Given the description of an element on the screen output the (x, y) to click on. 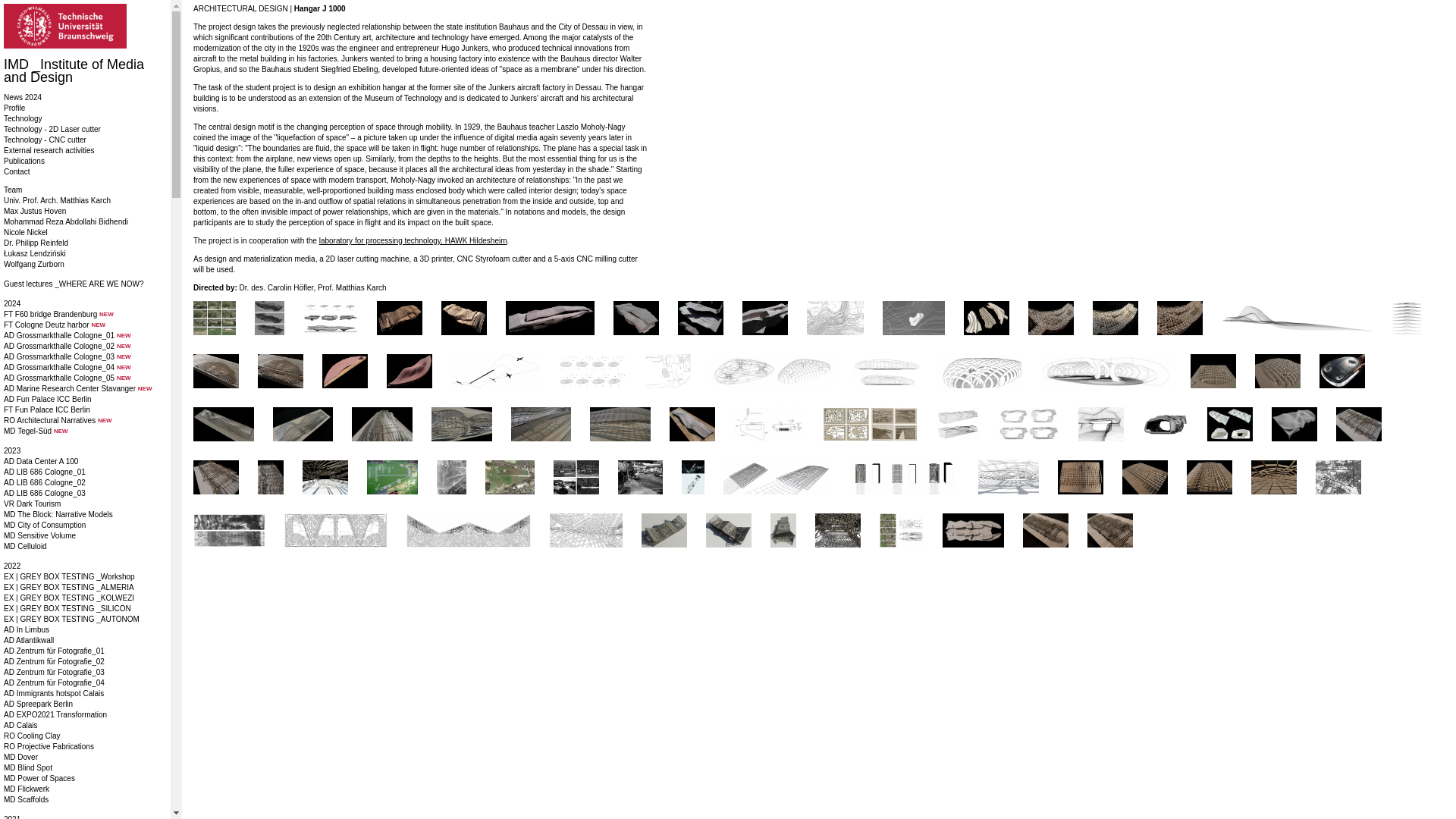
Team (12, 189)
Mohammad Reza Abdollahi Bidhendi (66, 221)
Nicole Nickel (26, 232)
Publications (24, 161)
VR Dark Tourism (32, 503)
Dr. Philipp Reinfeld (36, 243)
MD Sensitive Volume (39, 535)
FT F60 bridge Brandenburg (50, 314)
Profile (14, 108)
External research activities (49, 150)
Univ. Prof. Arch. Matthias Karch (57, 200)
Contact (16, 171)
MD Celluloid (25, 546)
MD The Block: Narrative Models (58, 514)
Wolfgang Zurborn (34, 264)
